Given the description of an element on the screen output the (x, y) to click on. 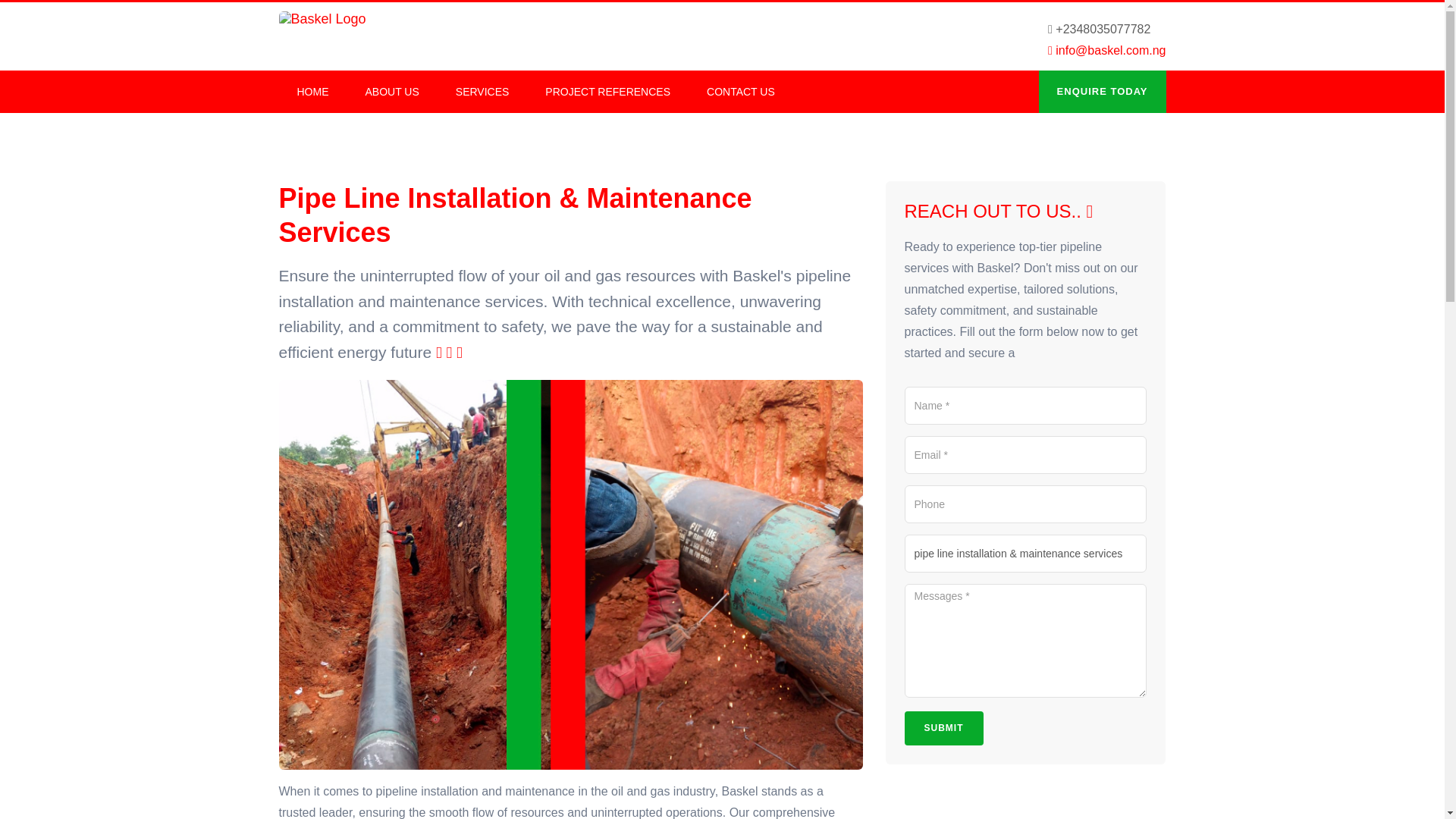
PROJECT REFERENCES (607, 91)
CONTACT US (740, 91)
HOME (313, 91)
ENQUIRE TODAY (1102, 91)
ABOUT US (392, 91)
SERVICES (482, 91)
SUBMIT (943, 728)
